Given the description of an element on the screen output the (x, y) to click on. 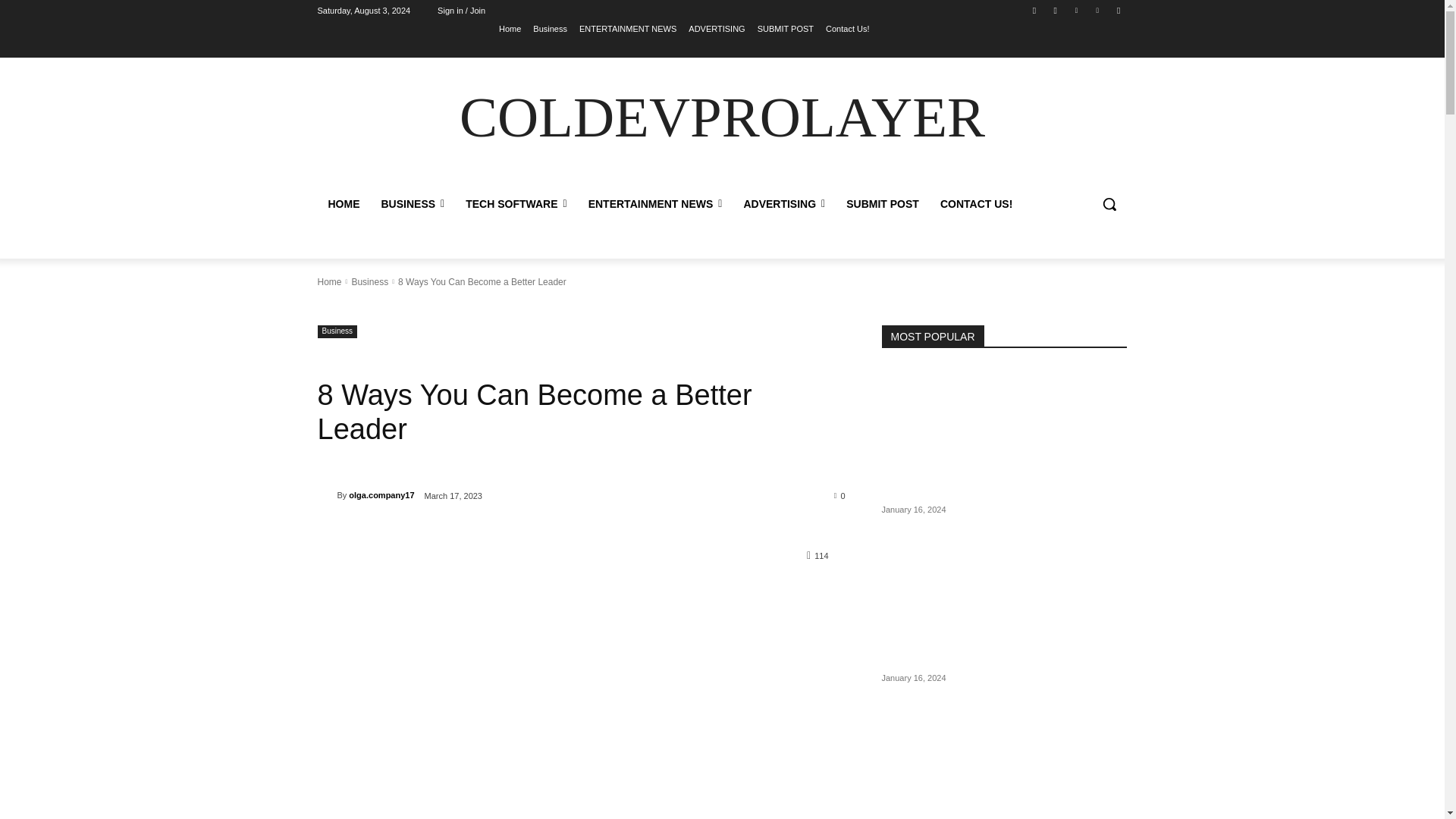
Youtube (1117, 9)
BUSINESS (411, 203)
ENTERTAINMENT NEWS (628, 28)
Facebook (1034, 9)
Home (510, 28)
HOME (343, 203)
Contact Us! (847, 28)
Instagram (1055, 9)
Vimeo (1097, 9)
COLDEVPROLAYER (721, 117)
